Given the description of an element on the screen output the (x, y) to click on. 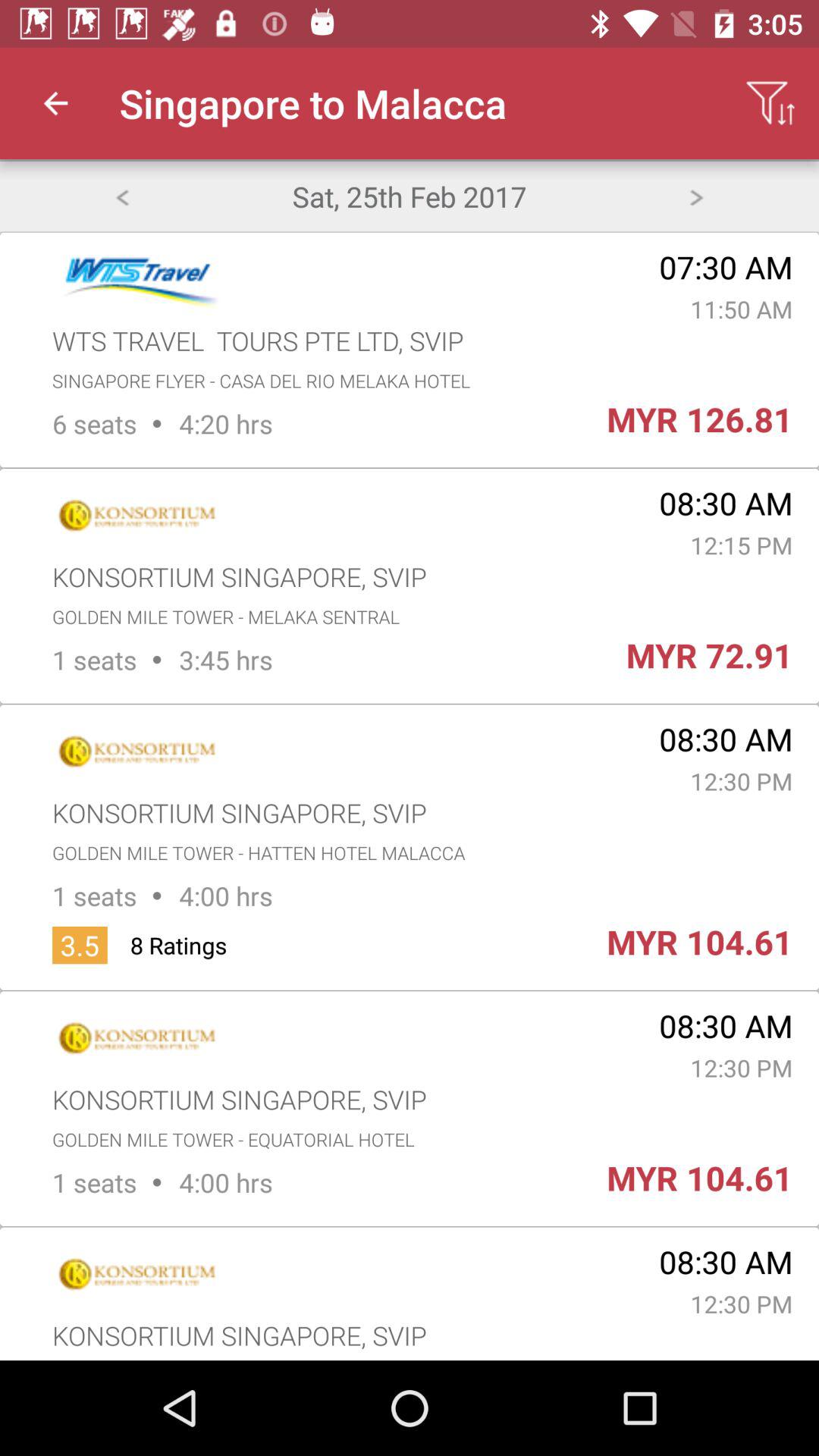
back button (121, 196)
